Given the description of an element on the screen output the (x, y) to click on. 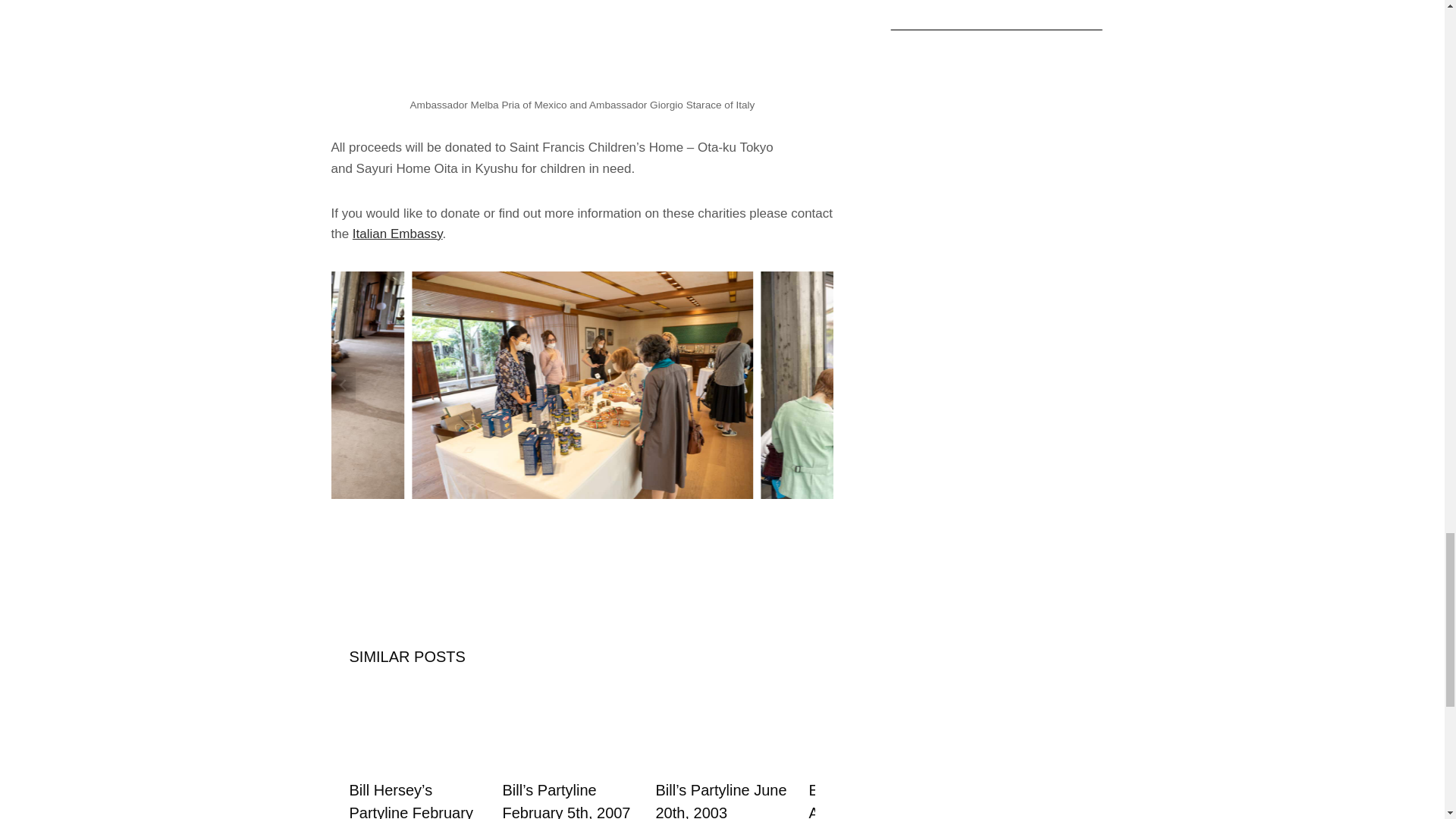
Italian Embassy (397, 233)
Estonian Ambassador to Leave Post With Great Achievements (876, 800)
